Given the description of an element on the screen output the (x, y) to click on. 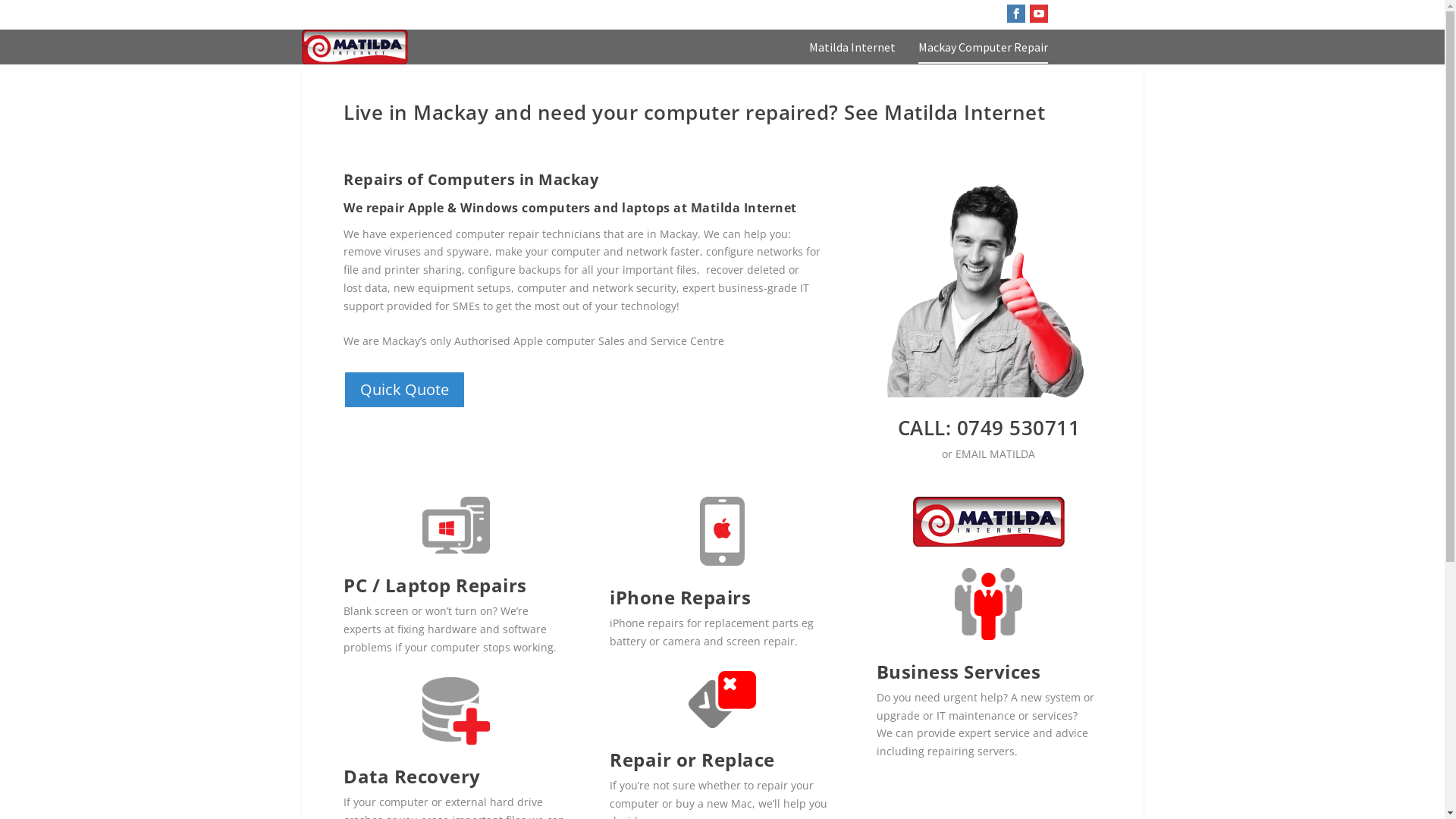
Search for: Element type: hover (1097, 14)
Quick Quote Element type: text (404, 389)
Mackay Computer Repair Element type: text (982, 52)
EMAIL MATILDA Element type: text (995, 453)
We repair Apple & Windows computers and laptops Element type: hover (984, 283)
Matilda Internet Element type: text (851, 52)
